Given the description of an element on the screen output the (x, y) to click on. 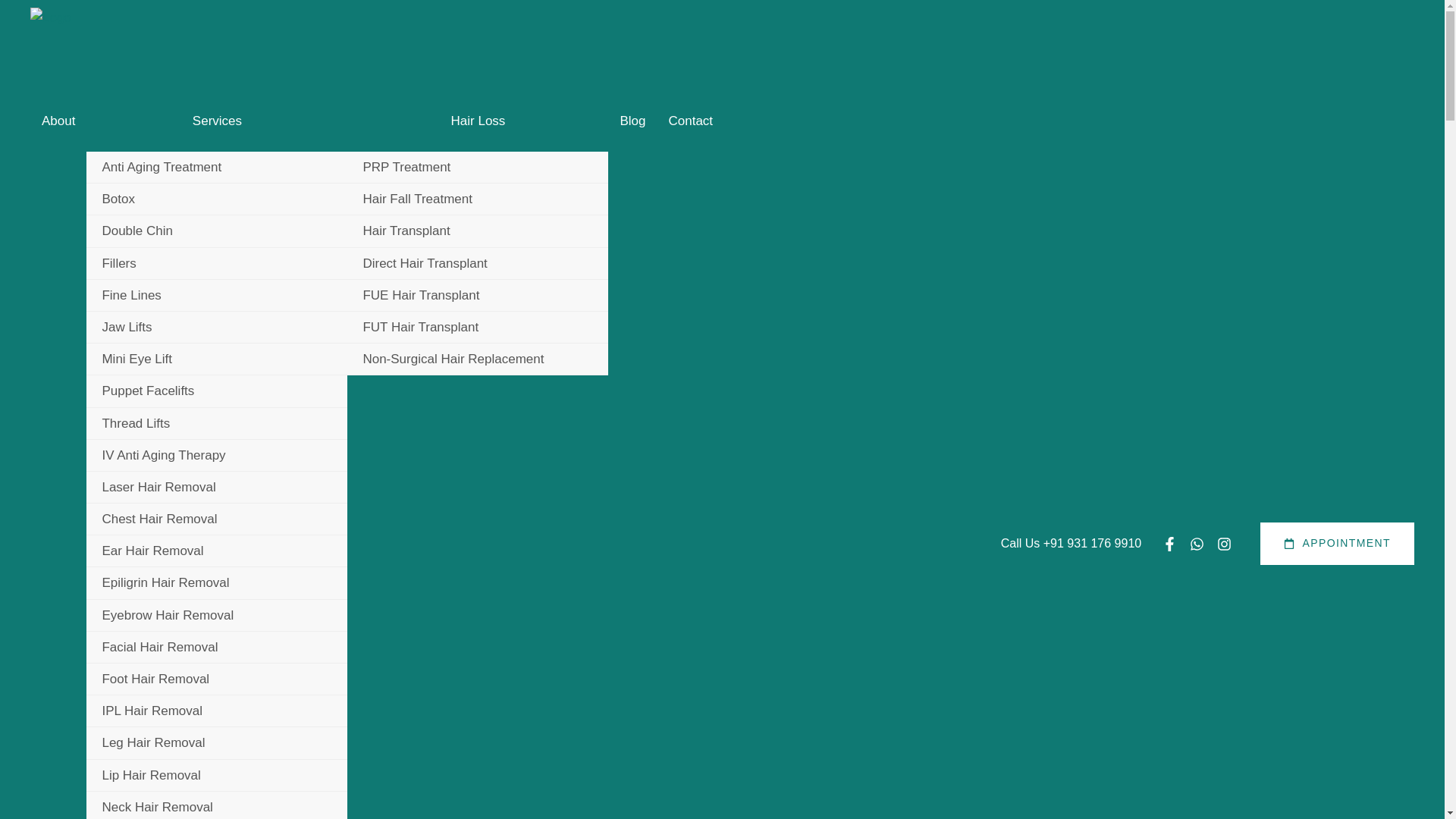
Lip Hair Removal (216, 775)
Hair Fall Treatment (477, 199)
PRP Treatment (477, 167)
Mini Eye Lift (216, 359)
Thread Lifts (216, 423)
Chest Hair Removal (216, 519)
Fine Lines (216, 296)
Hair Transplant (477, 231)
Eyebrow Hair Removal (216, 615)
About (57, 120)
